Given the description of an element on the screen output the (x, y) to click on. 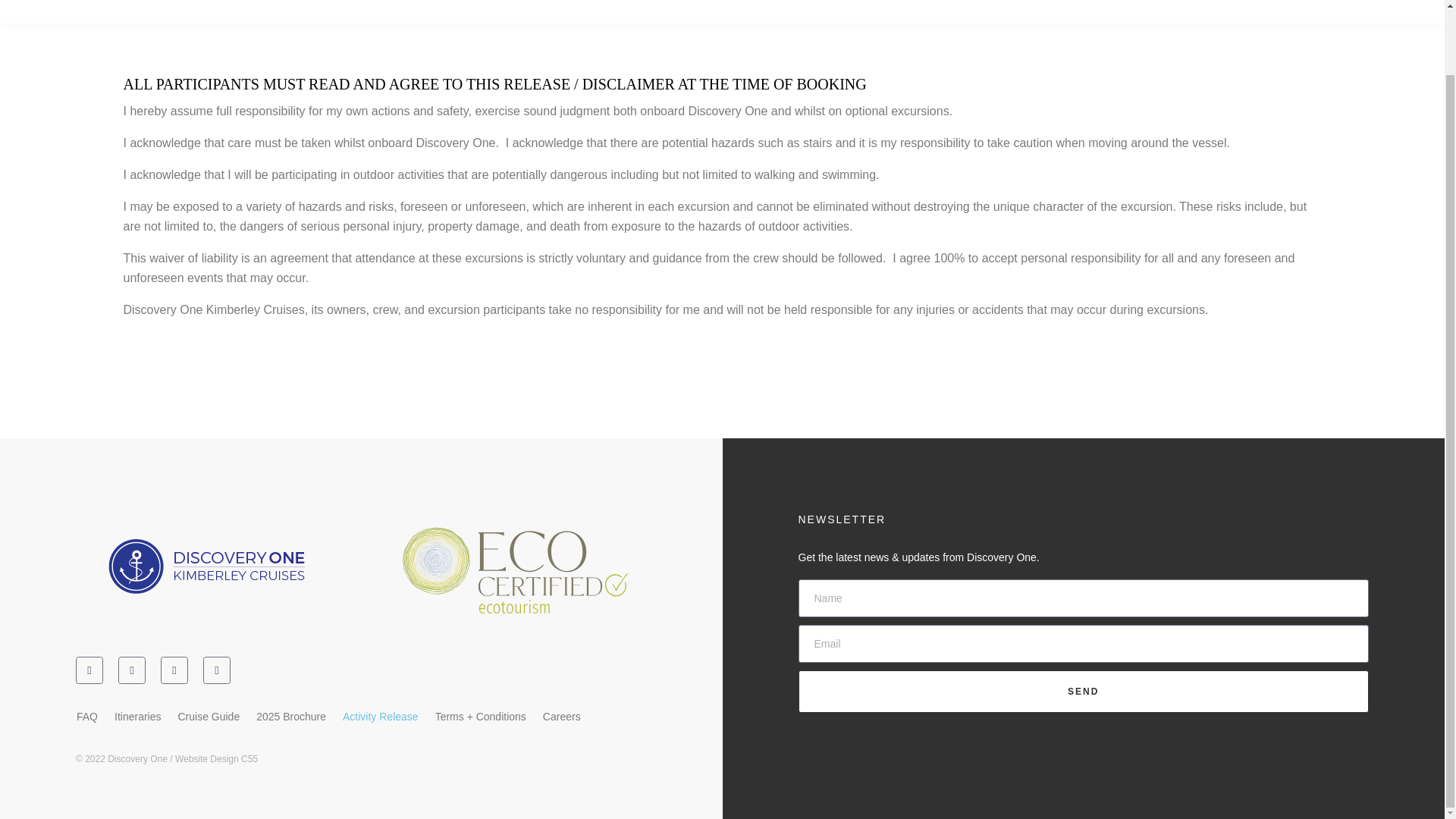
2025 Brochure (290, 716)
Careers (561, 716)
Itineraries (137, 716)
Activity Release (380, 716)
Cruise Guide (207, 716)
SEND (1082, 691)
FAQ (87, 716)
